Given the description of an element on the screen output the (x, y) to click on. 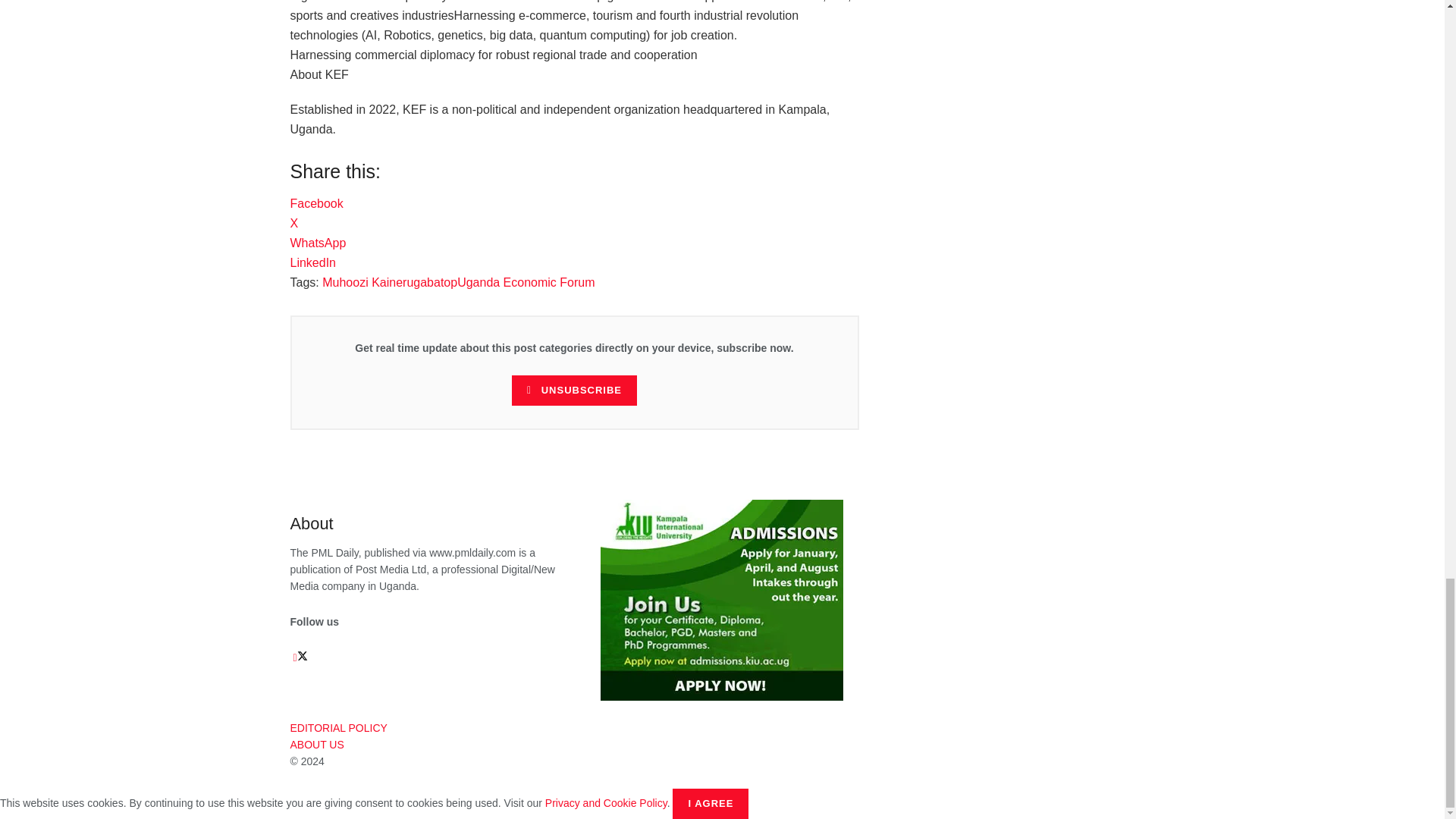
Click to share on WhatsApp (317, 242)
Click to share on Facebook (315, 203)
Click to share on LinkedIn (312, 262)
